Given the description of an element on the screen output the (x, y) to click on. 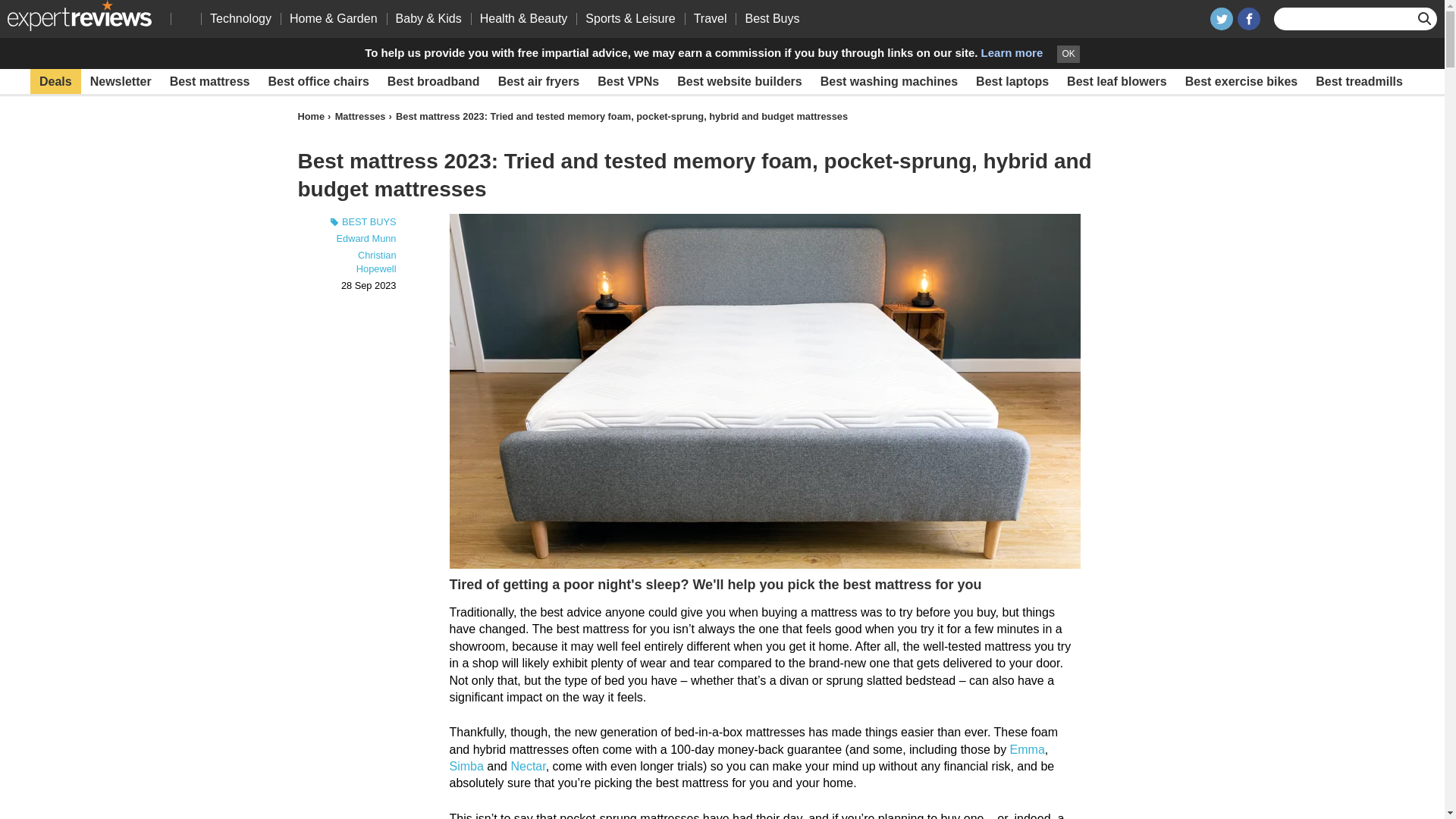
Expert Reviews (79, 15)
Best suitcases (373, 106)
Travel (710, 18)
Nectar mattress review (527, 766)
Newsletter (120, 81)
Best mattress (209, 81)
Nectar (527, 766)
Edward Munn (366, 238)
Best Buys (771, 18)
OK (1067, 54)
